Given the description of an element on the screen output the (x, y) to click on. 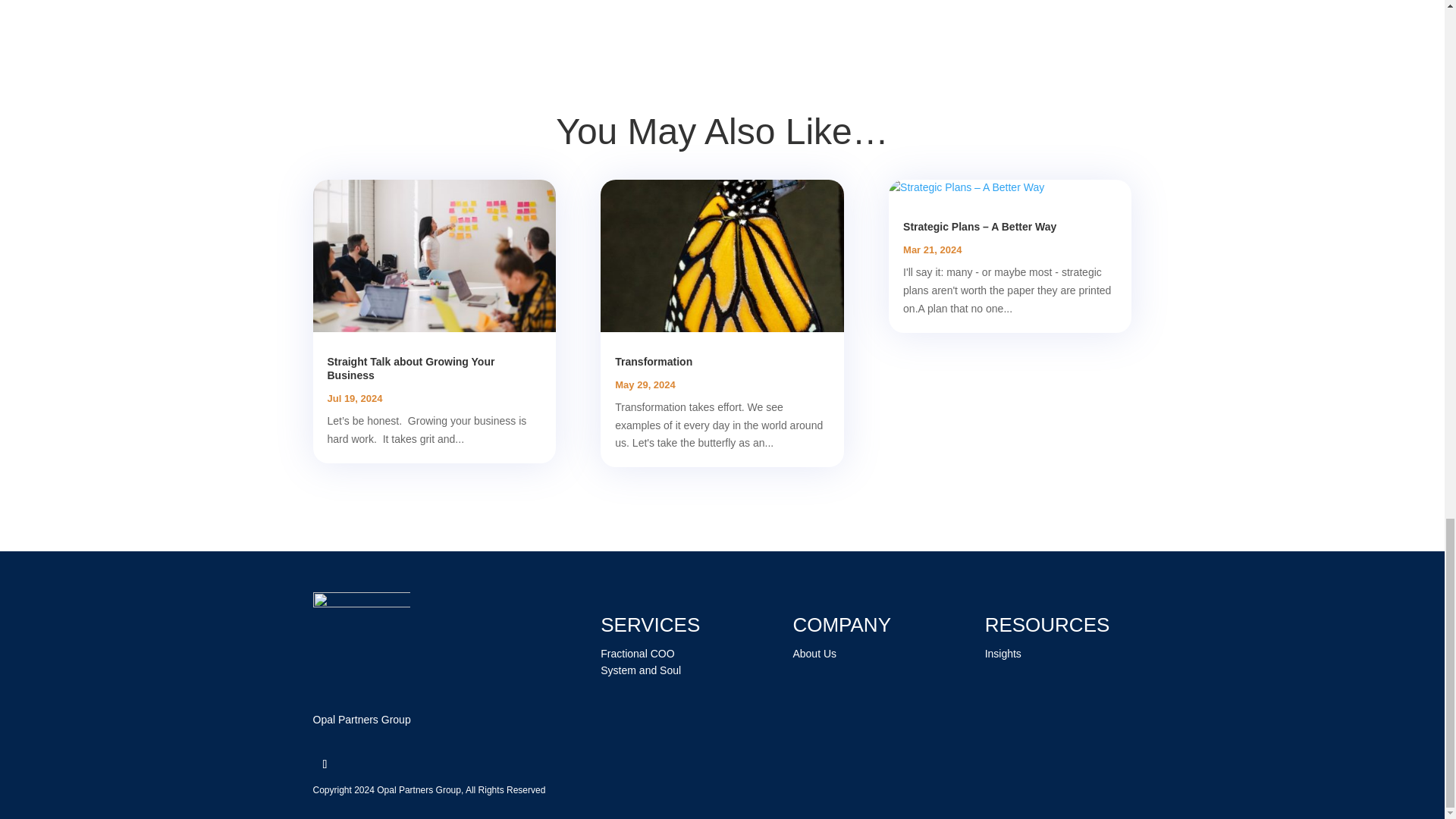
Straight Talk about Growing Your Business (411, 368)
Transformation (653, 361)
Opal Logo White Outline 2 (361, 640)
Follow on LinkedIn (324, 764)
